Given the description of an element on the screen output the (x, y) to click on. 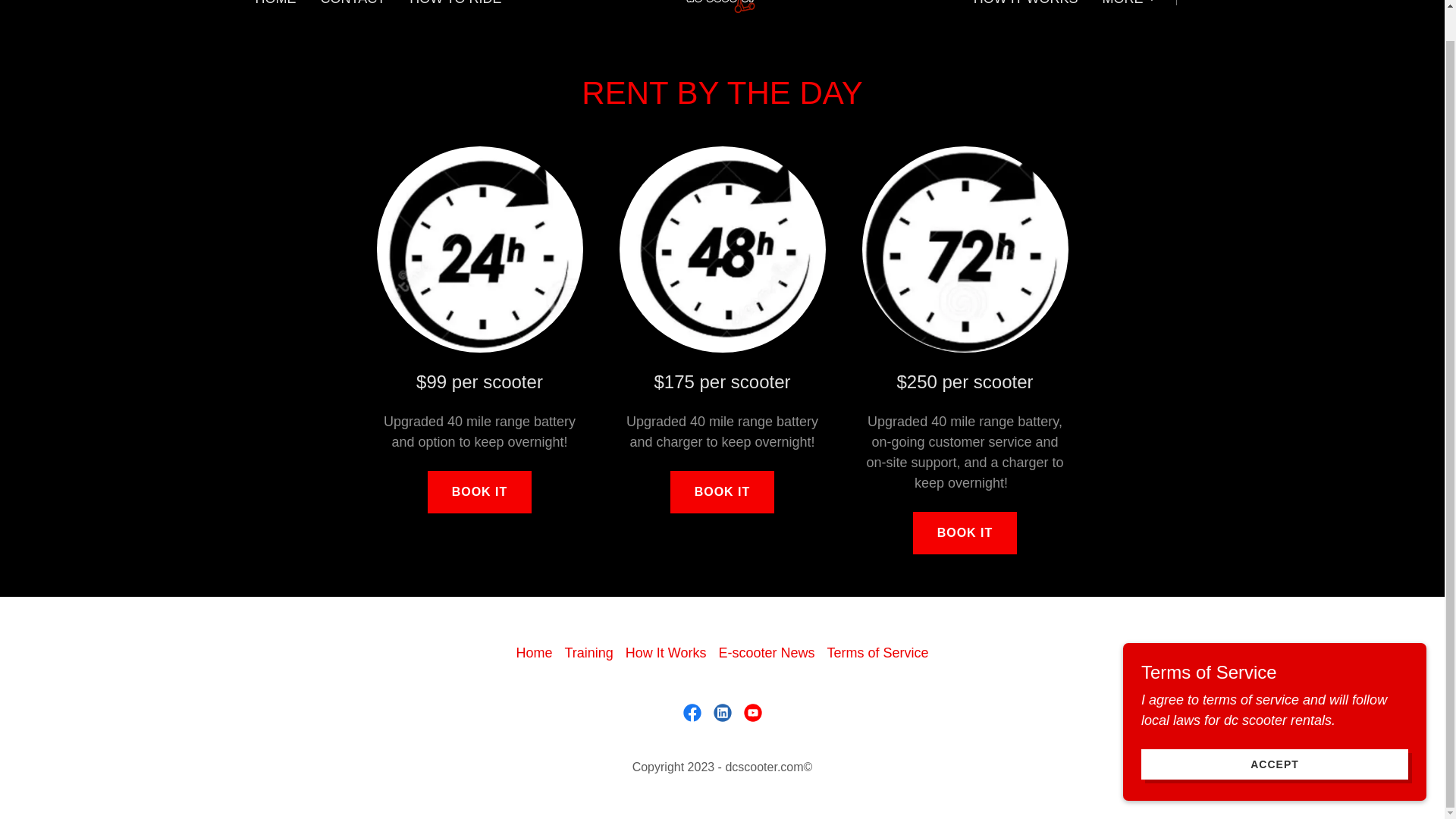
HOME (274, 6)
HOW IT WORKS (1026, 6)
MORE (1129, 3)
dc scooter (721, 2)
HOW TO RIDE (454, 6)
CONTACT (352, 6)
